Given the description of an element on the screen output the (x, y) to click on. 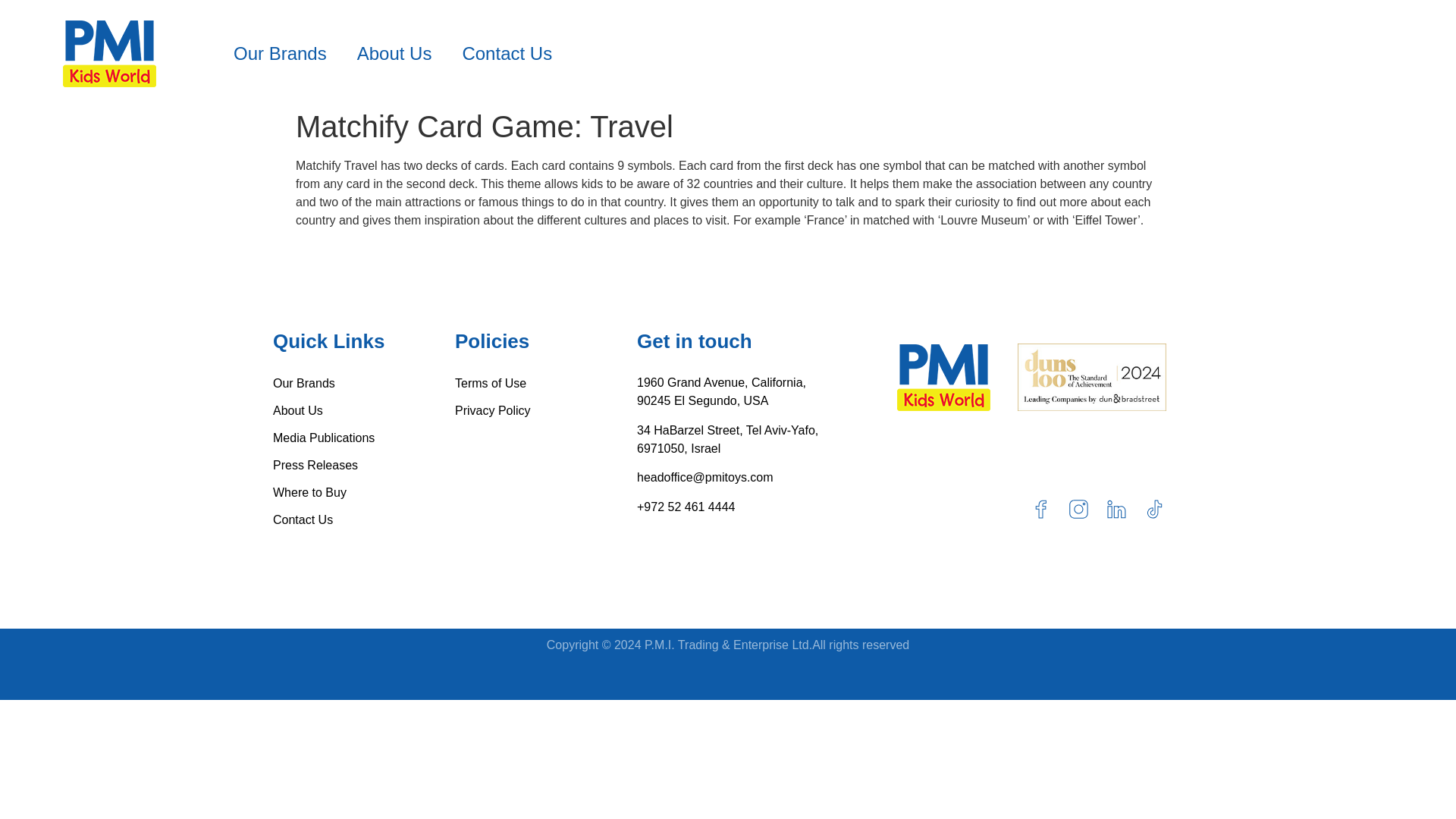
Press Releases (363, 465)
Terms of Use (545, 383)
Our Brands (280, 53)
Contact Us (363, 519)
Where to Buy (363, 492)
Media Publications (363, 437)
About Us (394, 53)
About Us (363, 410)
Privacy Policy (545, 410)
Our Brands (363, 383)
Contact Us (506, 53)
